Given the description of an element on the screen output the (x, y) to click on. 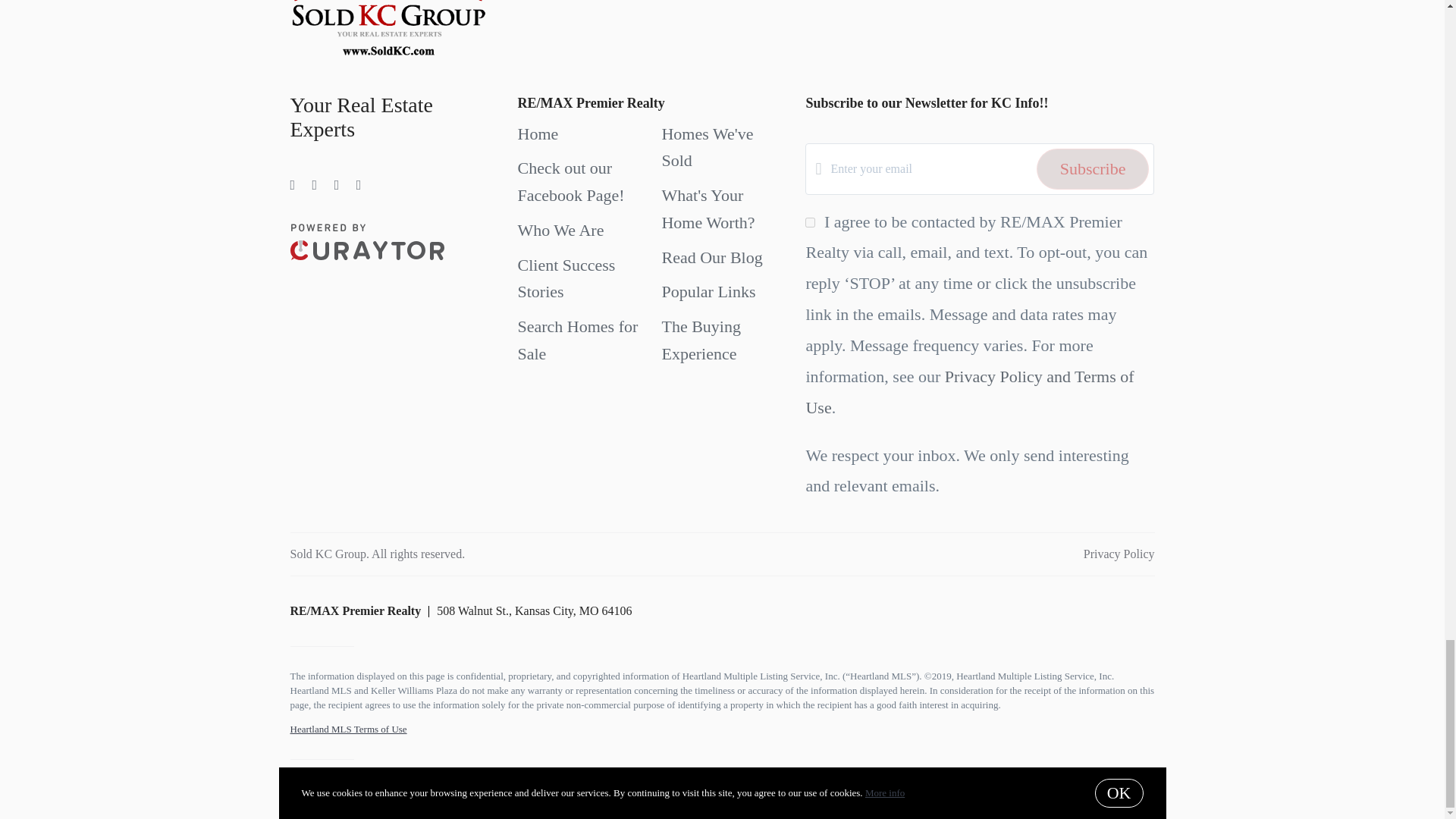
curaytor-horizontal (366, 241)
on (810, 222)
